Given the description of an element on the screen output the (x, y) to click on. 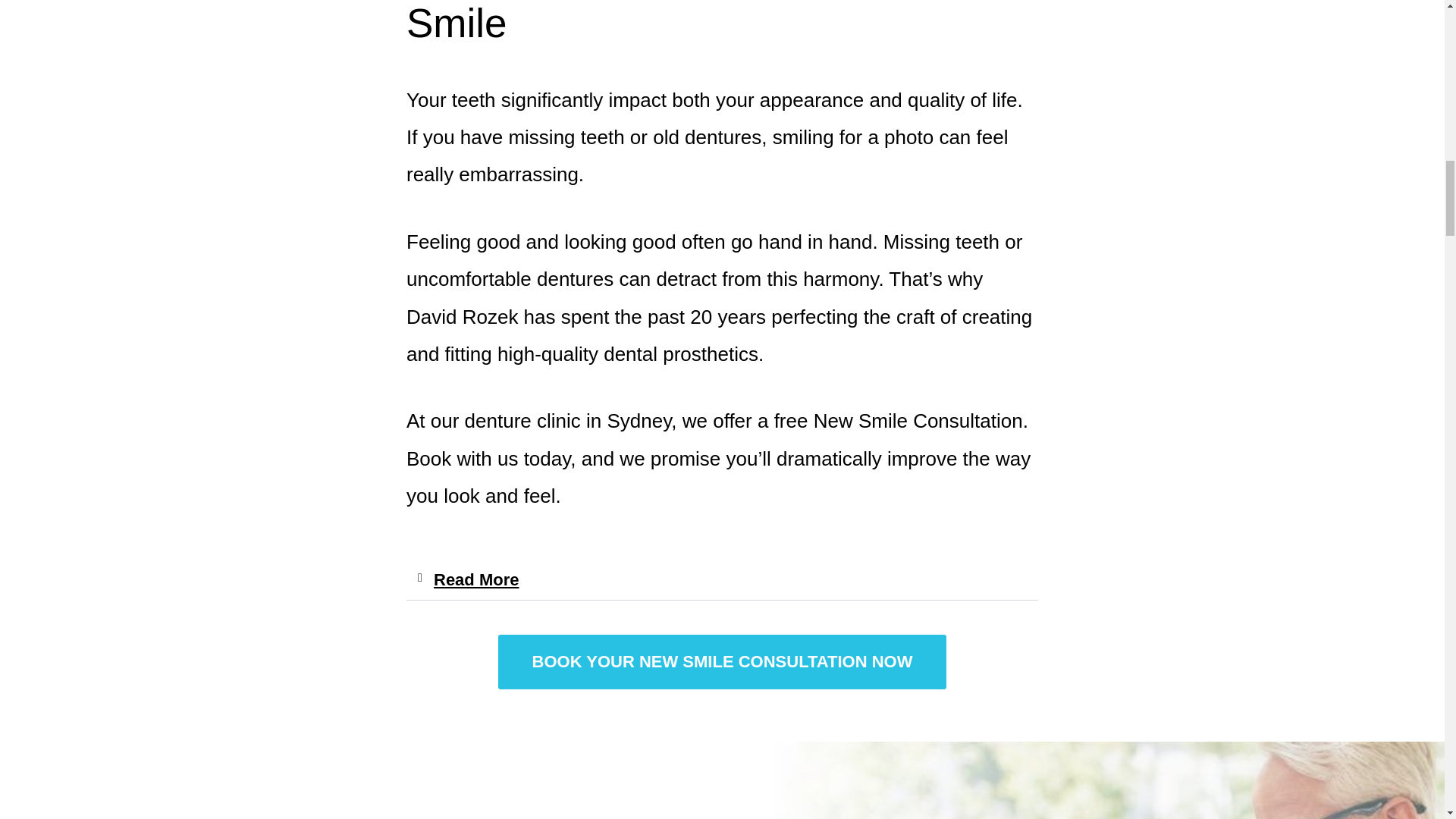
Read More (475, 579)
BOOK YOUR NEW SMILE CONSULTATION NOW (722, 661)
